Given the description of an element on the screen output the (x, y) to click on. 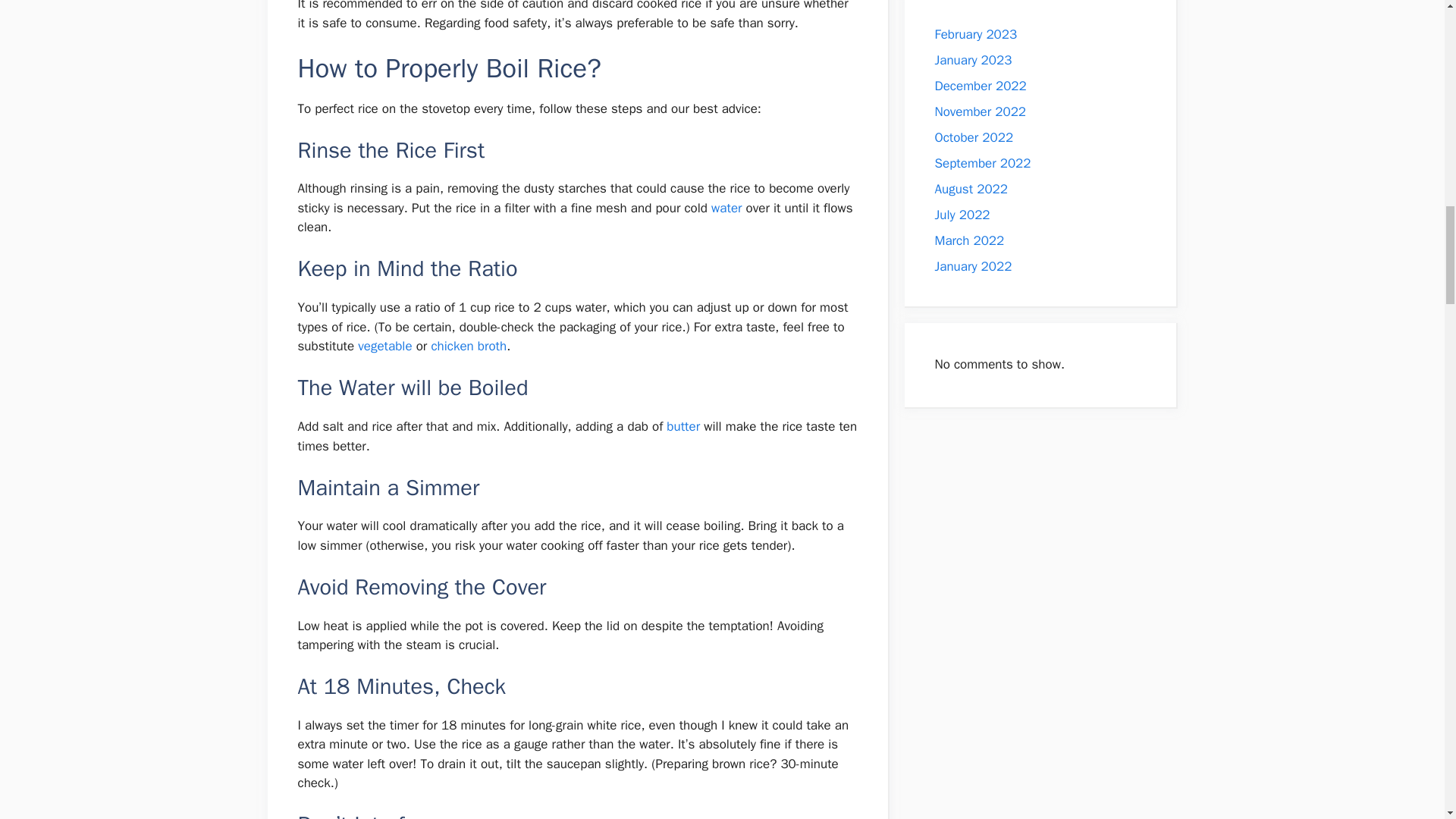
vegetable (385, 345)
chicken broth (468, 345)
water (726, 207)
butter (683, 426)
